Given the description of an element on the screen output the (x, y) to click on. 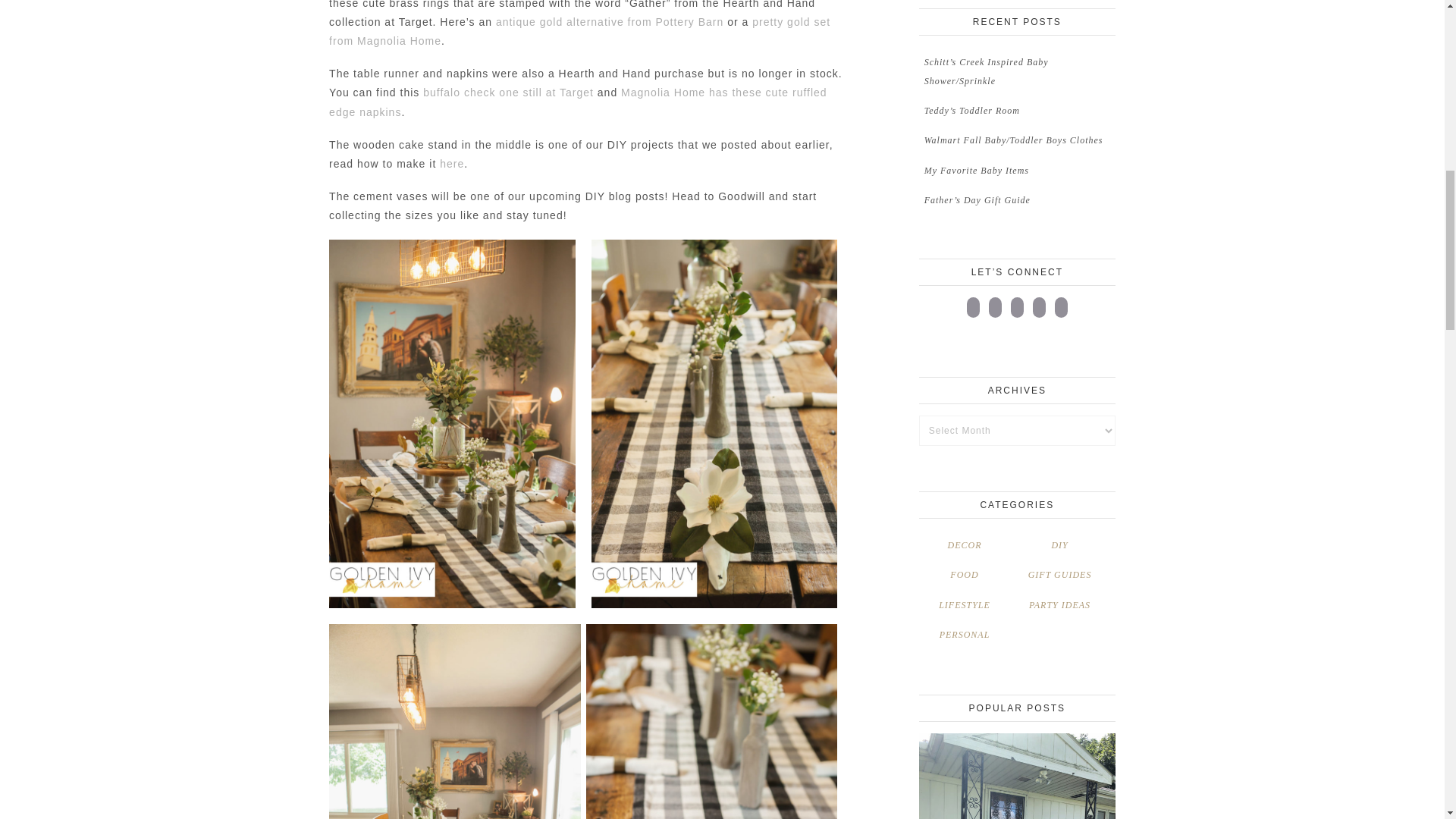
antique gold alternative from Pottery Barn (609, 21)
here (451, 163)
pretty gold set from Magnolia Home (579, 30)
buffalo check one still at Target (508, 92)
Magnolia Home has these cute ruffled edge napkins (578, 101)
